Given the description of an element on the screen output the (x, y) to click on. 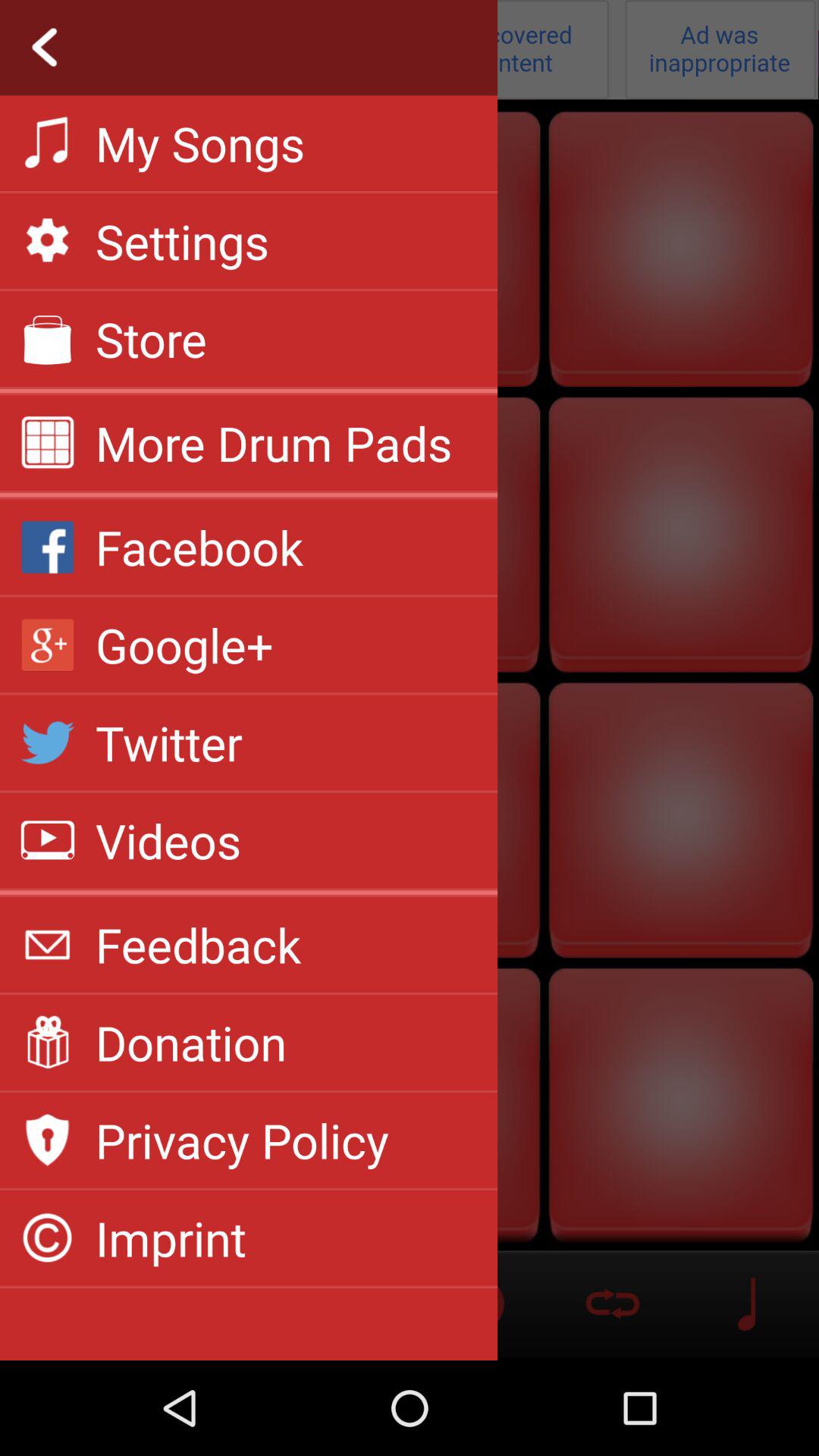
turn on the app above feedback app (248, 892)
